Given the description of an element on the screen output the (x, y) to click on. 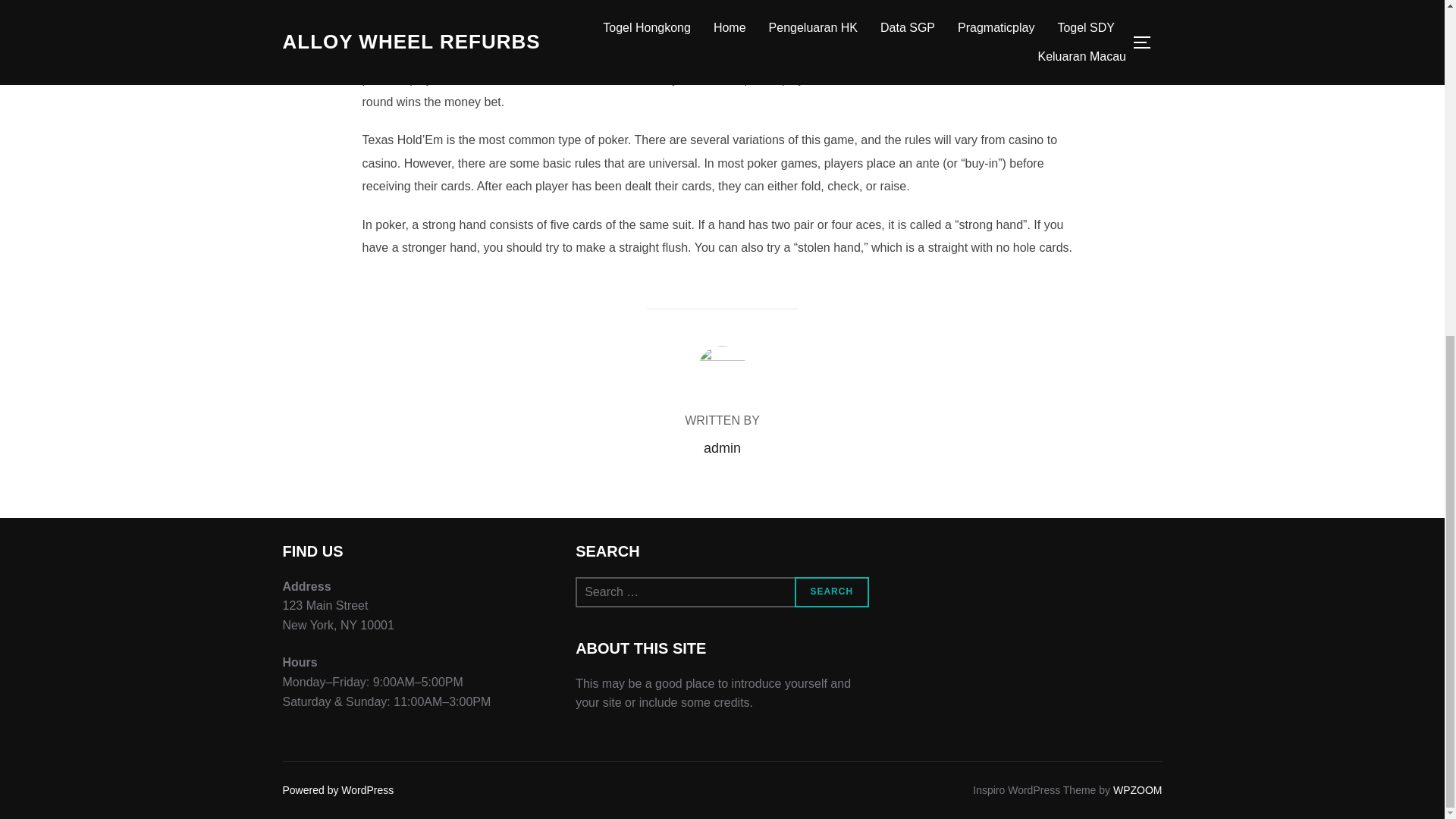
SEARCH (831, 592)
admin (722, 447)
WPZOOM (1137, 789)
Posts by admin (722, 447)
Powered by WordPress (337, 789)
